Given the description of an element on the screen output the (x, y) to click on. 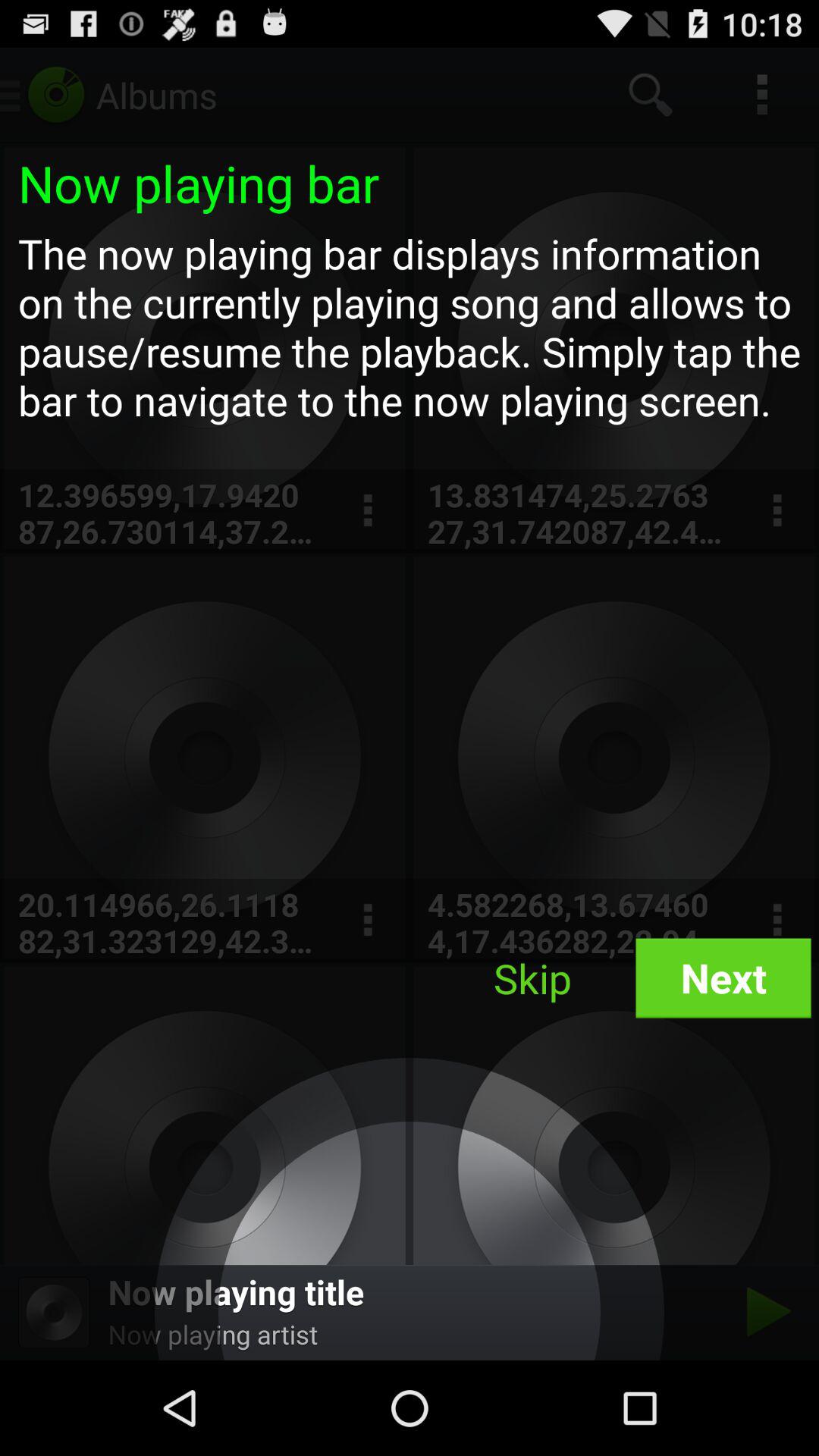
click to play songs (764, 1312)
